Given the description of an element on the screen output the (x, y) to click on. 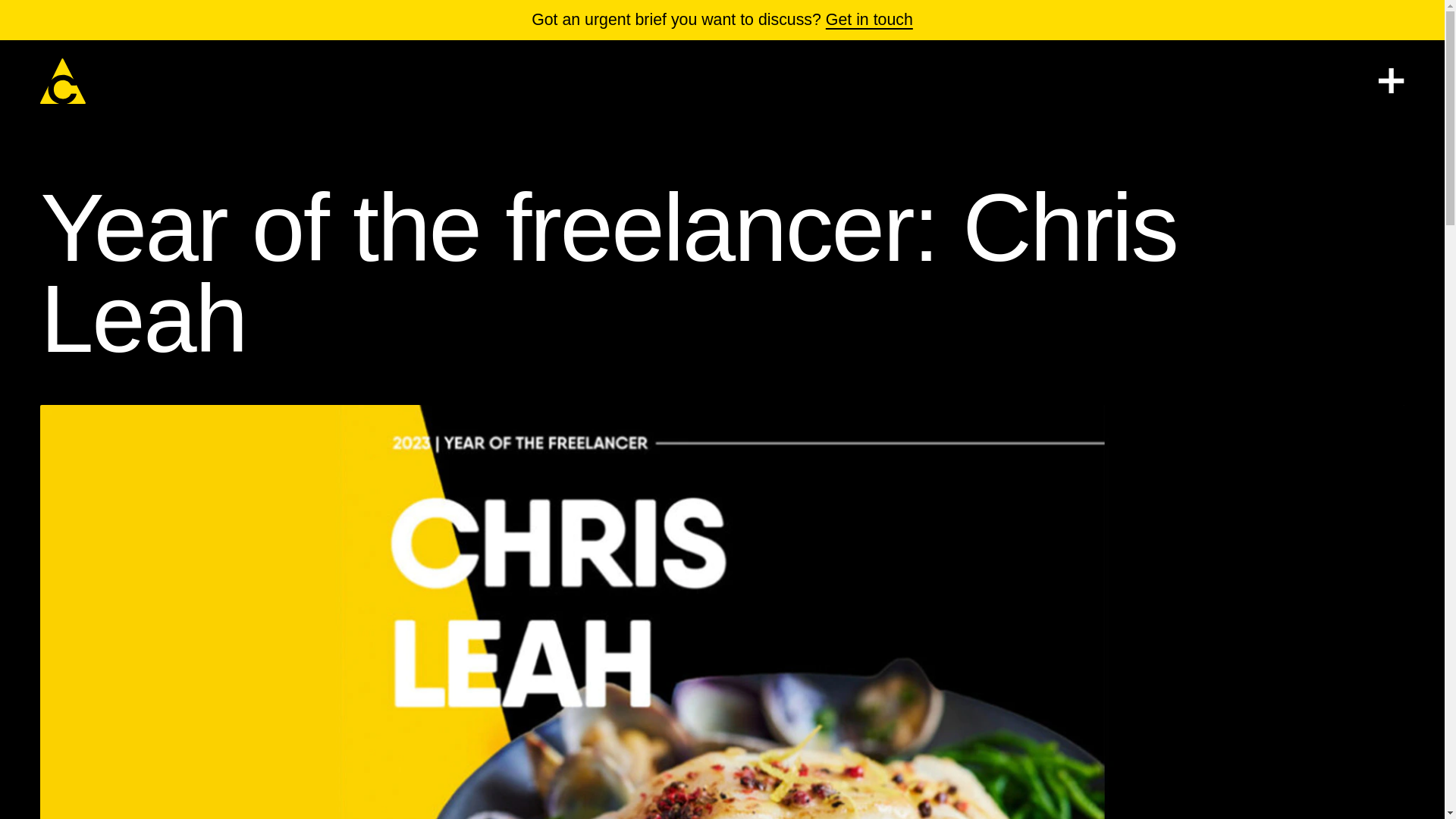
Get in touch (868, 19)
